Given the description of an element on the screen output the (x, y) to click on. 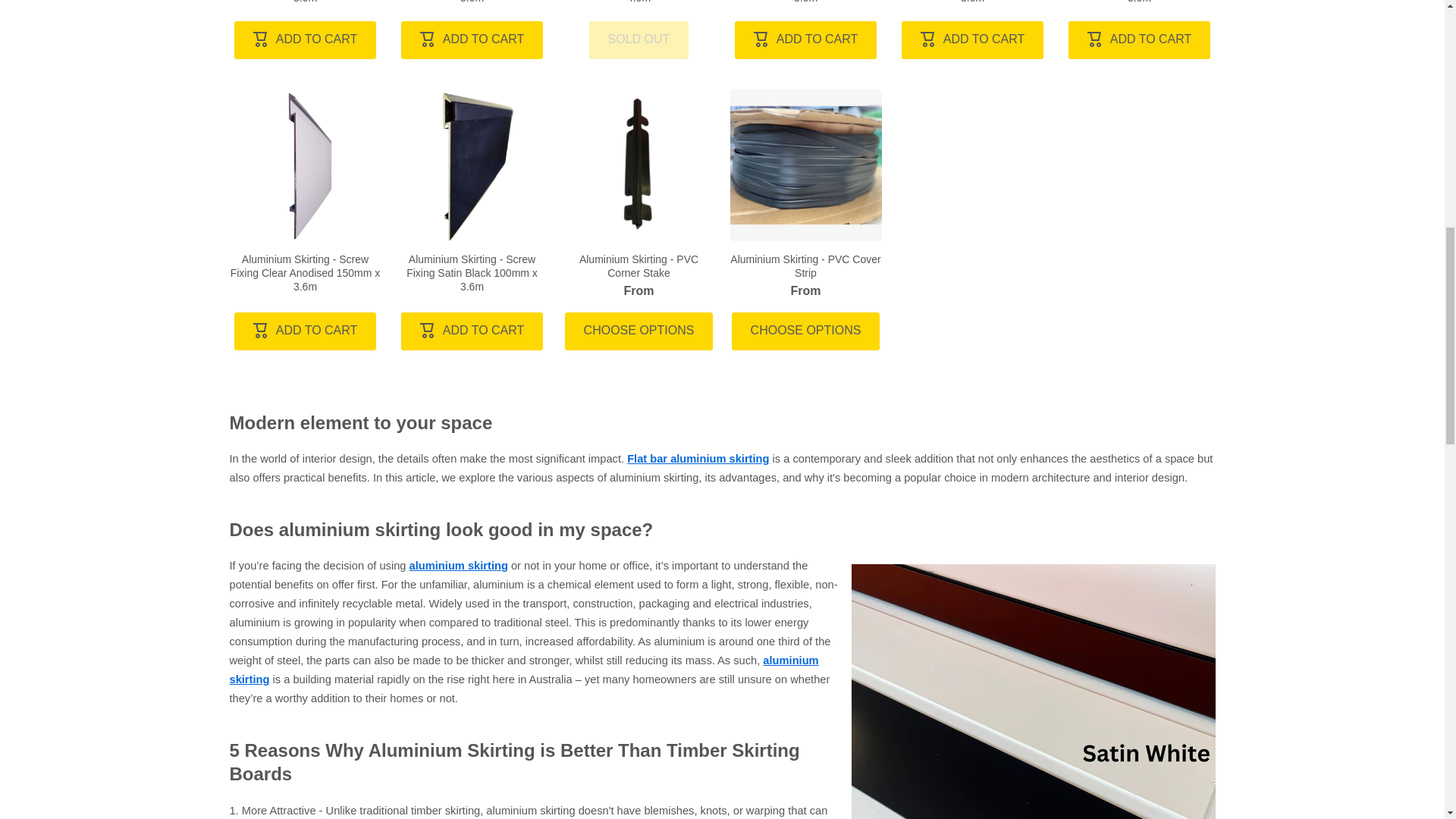
Aluminium Skirting (458, 565)
Flat Bar Aluminium Skirting (697, 458)
Aluminium Skirting (523, 669)
